Given the description of an element on the screen output the (x, y) to click on. 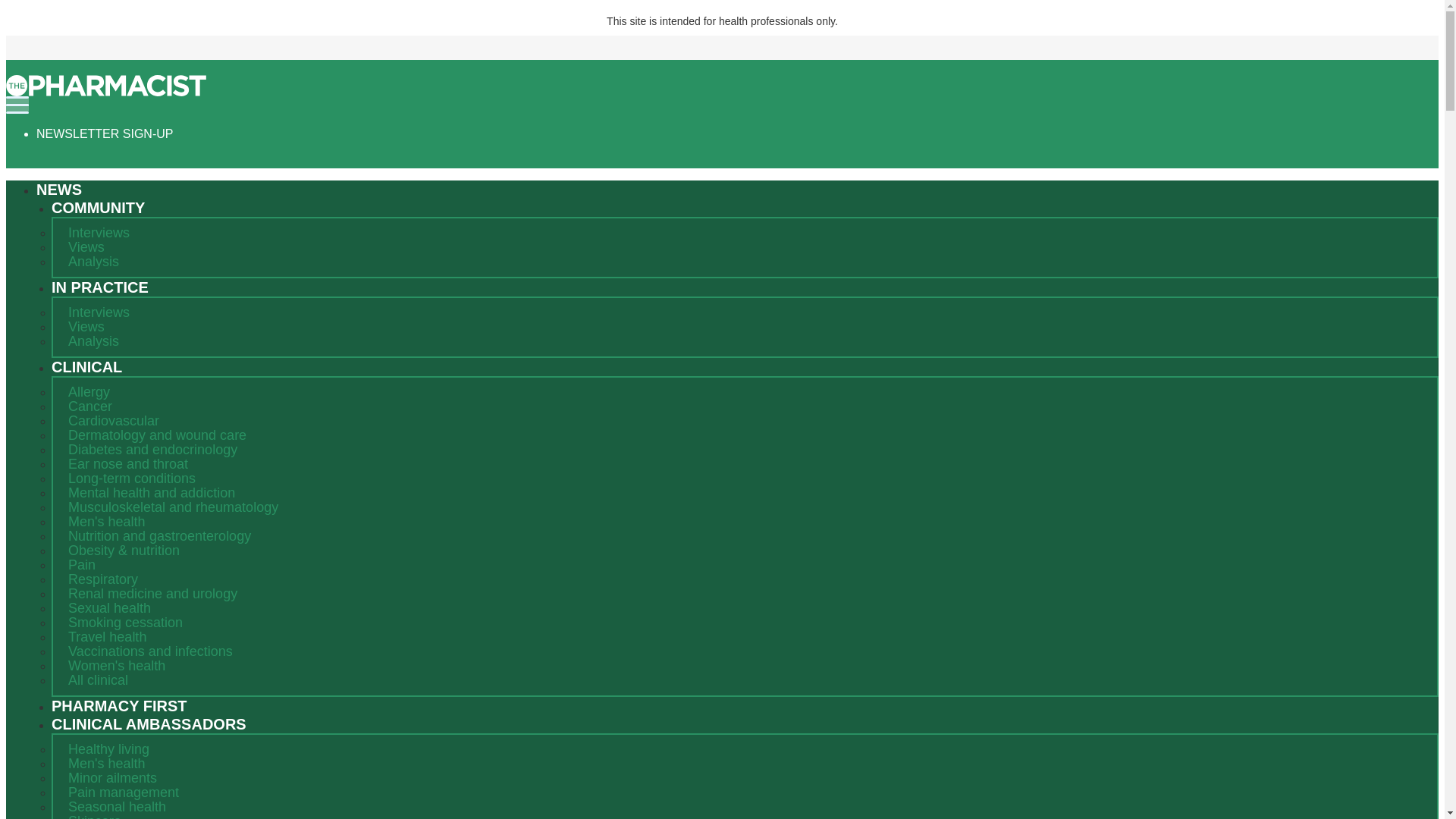
NEWSLETTER SIGN-UP (104, 133)
